Given the description of an element on the screen output the (x, y) to click on. 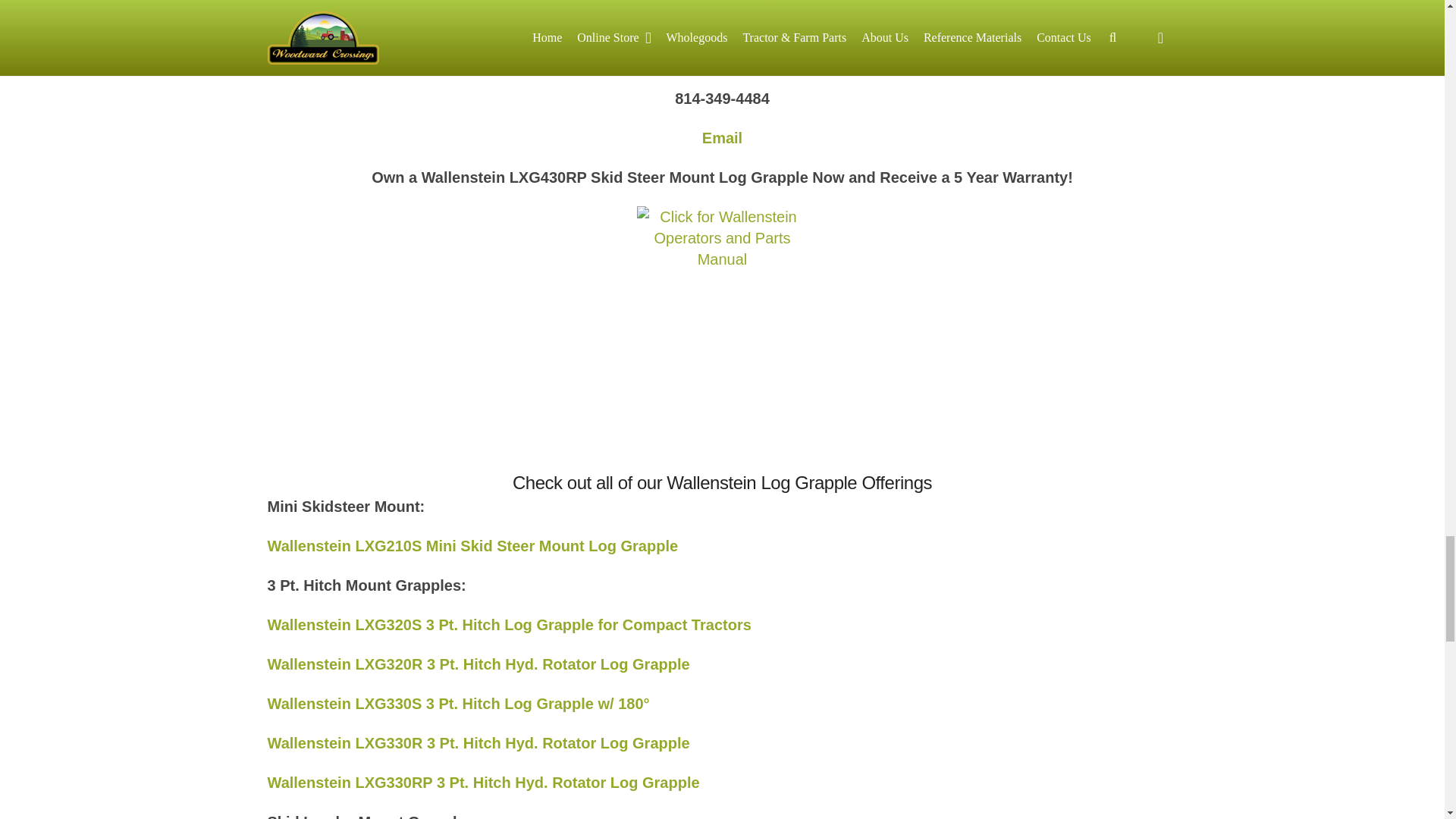
Email Us (721, 137)
